Given the description of an element on the screen output the (x, y) to click on. 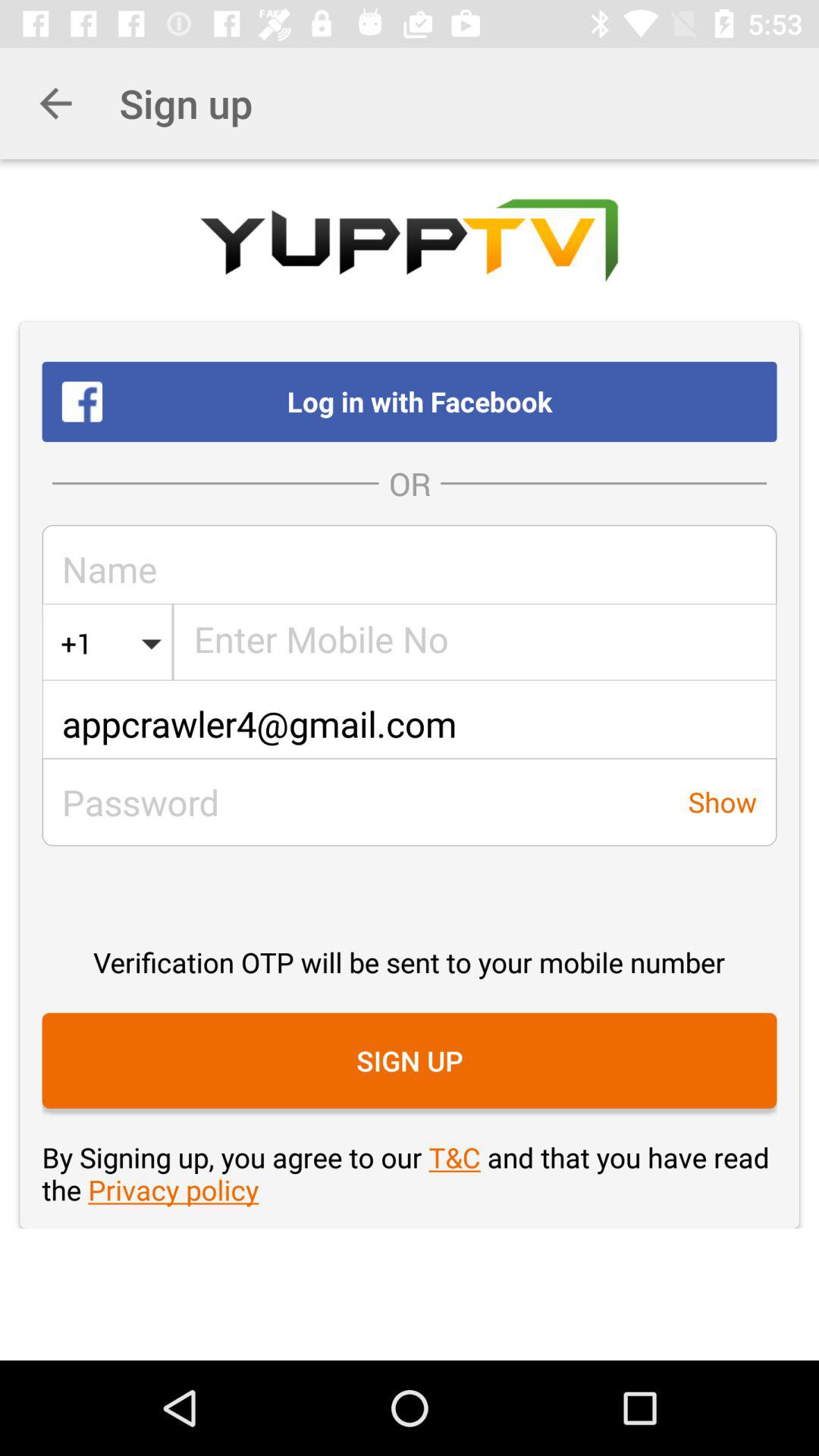
search bar (475, 643)
